Given the description of an element on the screen output the (x, y) to click on. 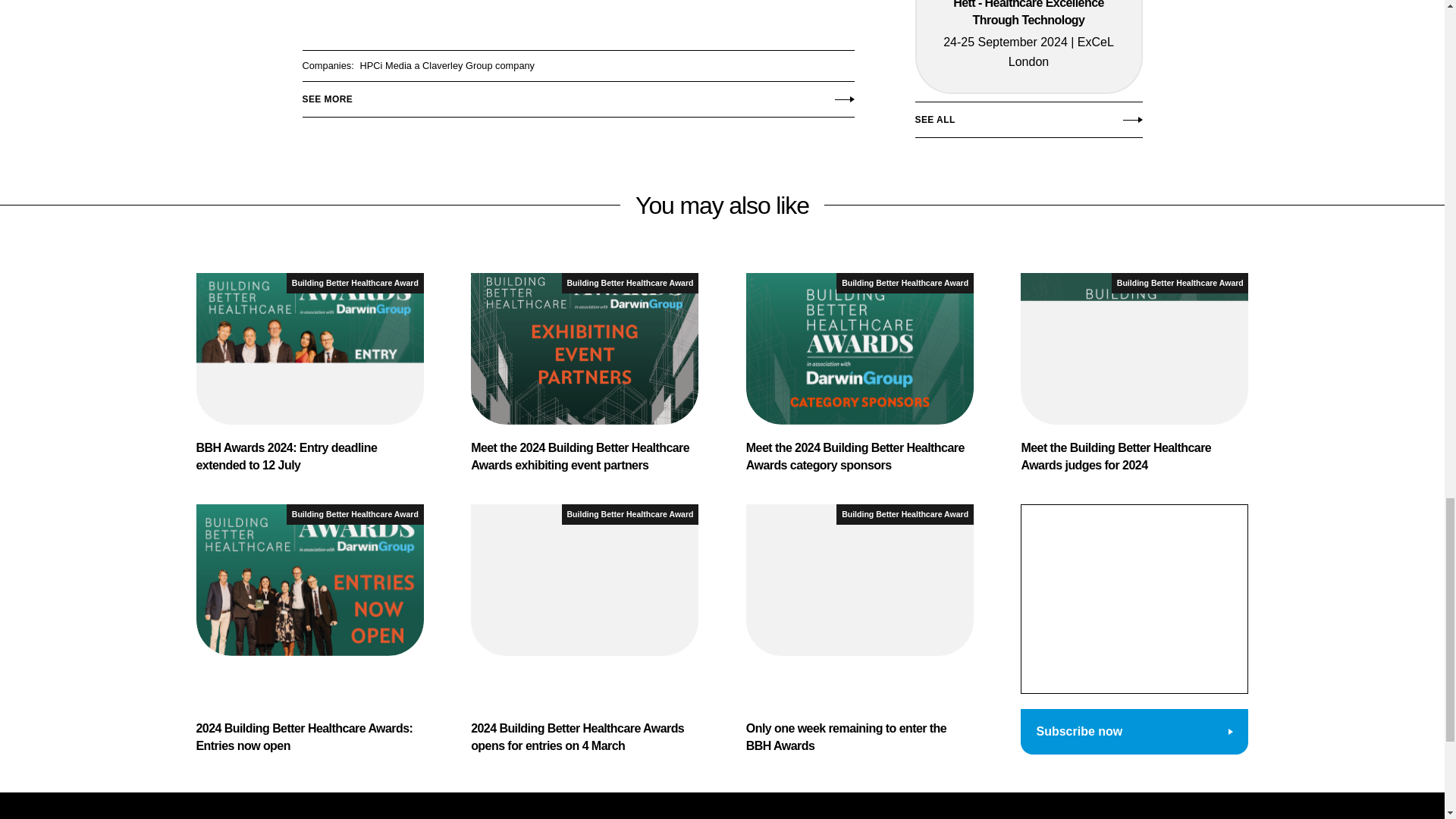
SEE MORE (577, 95)
